Given the description of an element on the screen output the (x, y) to click on. 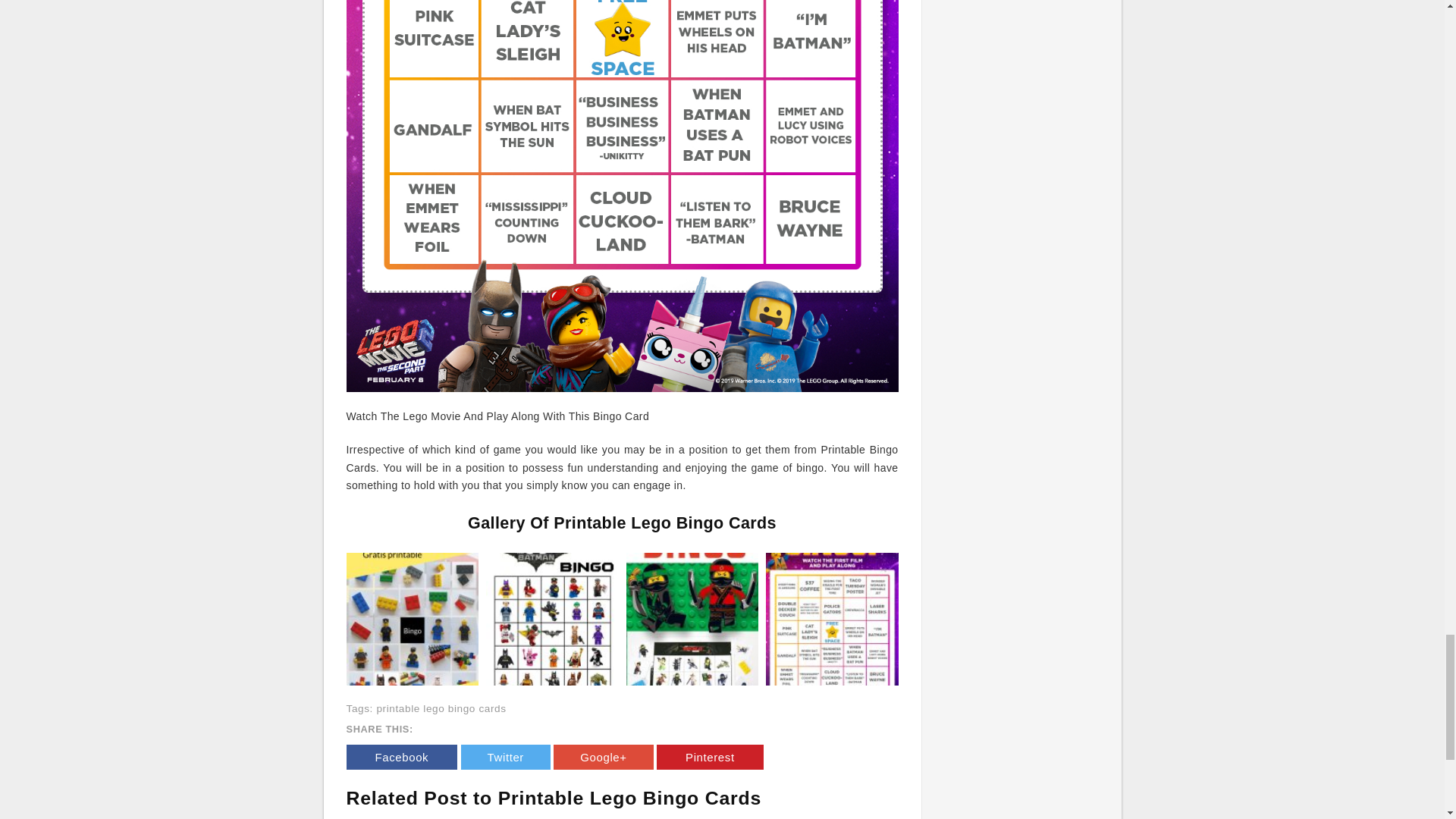
Watch The Lego Movie And Play Along With This Bingo Card (831, 618)
Facebook (401, 756)
Twitter (505, 756)
Lego Ninjago Movie Bingo   Lego Verjaardagsfeestje, Lego (692, 618)
printable lego bingo cards (440, 708)
Pinterest (709, 756)
Watch The Lego Movie And Play Along With This Bingo Card (831, 617)
Lego Ninjago Movie Bingo   Lego Verjaardagsfeestje, Lego (692, 617)
